Given the description of an element on the screen output the (x, y) to click on. 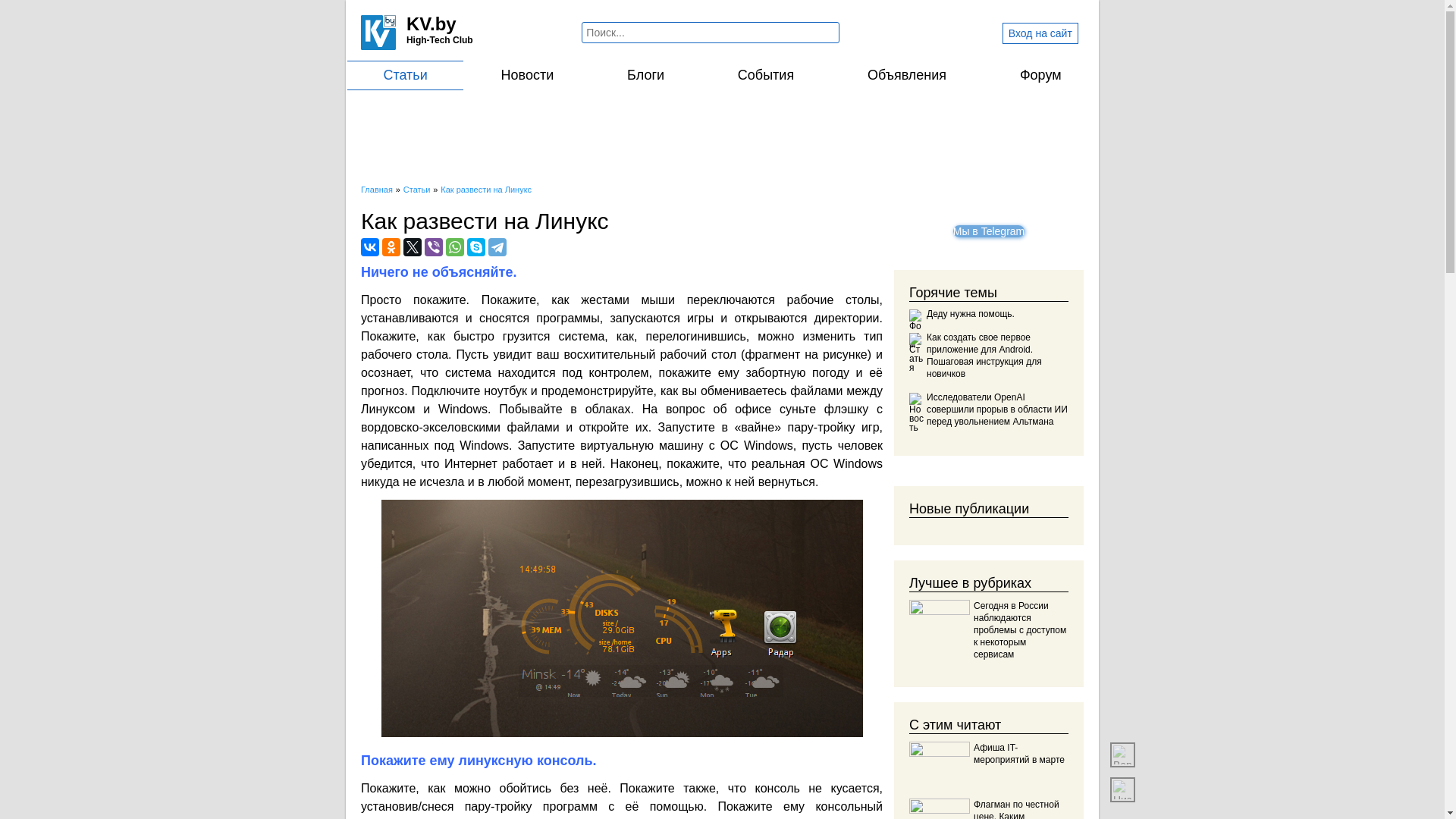
WhatsApp Element type: hover (454, 247)
KV.by Element type: text (431, 23)
Skype Element type: hover (476, 247)
Telegram Element type: hover (497, 247)
Viber Element type: hover (433, 247)
Twitter Element type: hover (412, 247)
